Given the description of an element on the screen output the (x, y) to click on. 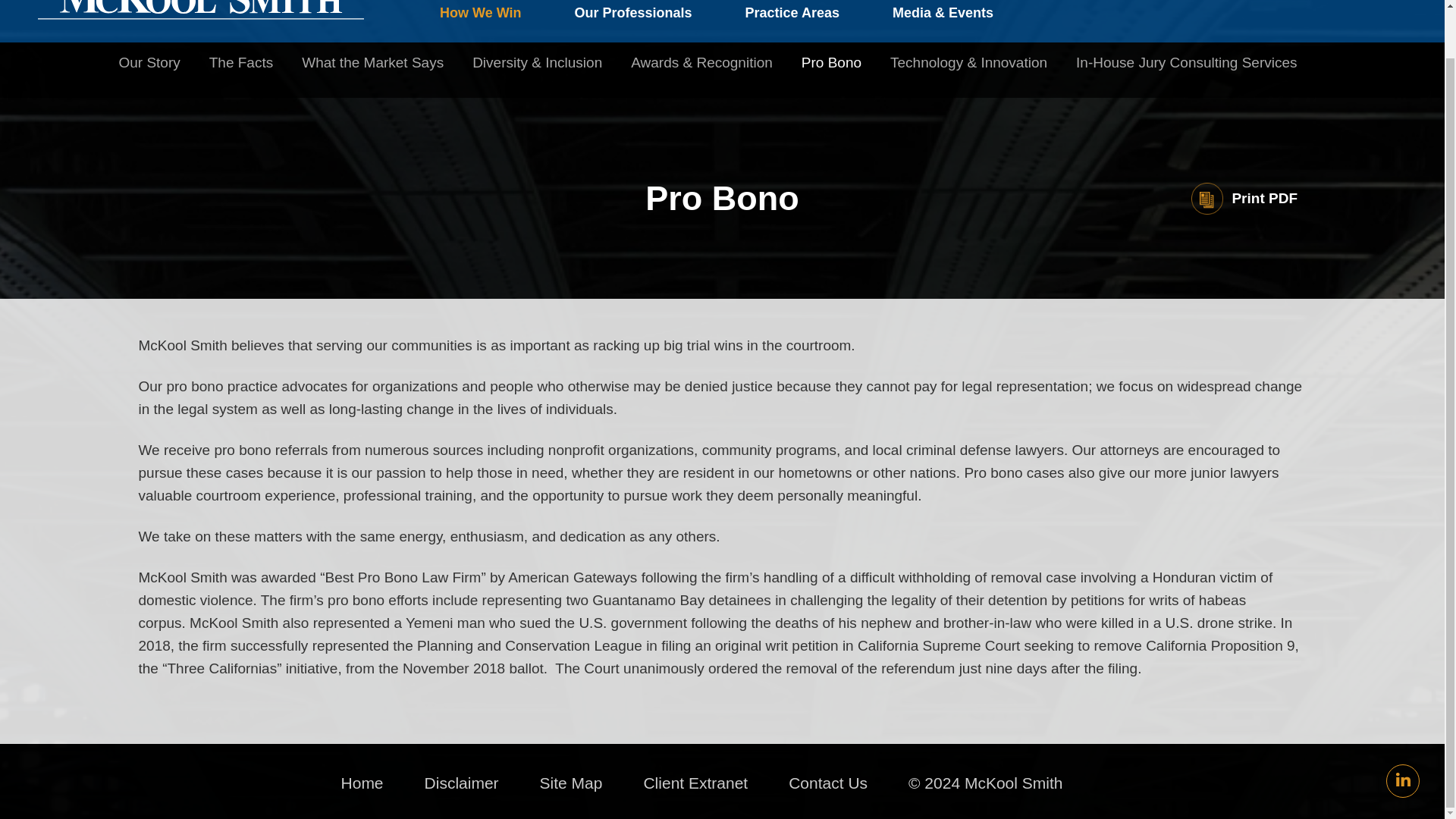
Our Professionals (632, 16)
Practice Areas (792, 16)
How We Win (493, 16)
